Given the description of an element on the screen output the (x, y) to click on. 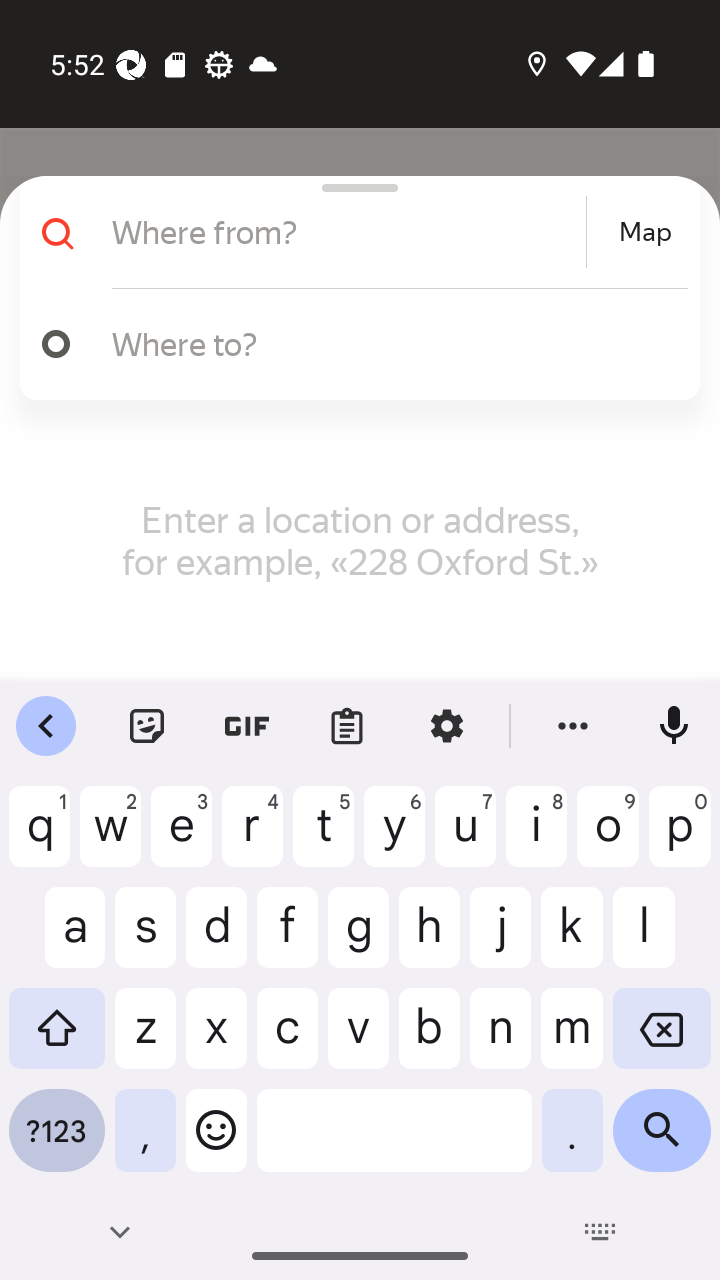
Where from? Map Map (352, 232)
Map (645, 232)
Where from? (346, 232)
Where to? (352, 343)
Where to? (390, 343)
